Given the description of an element on the screen output the (x, y) to click on. 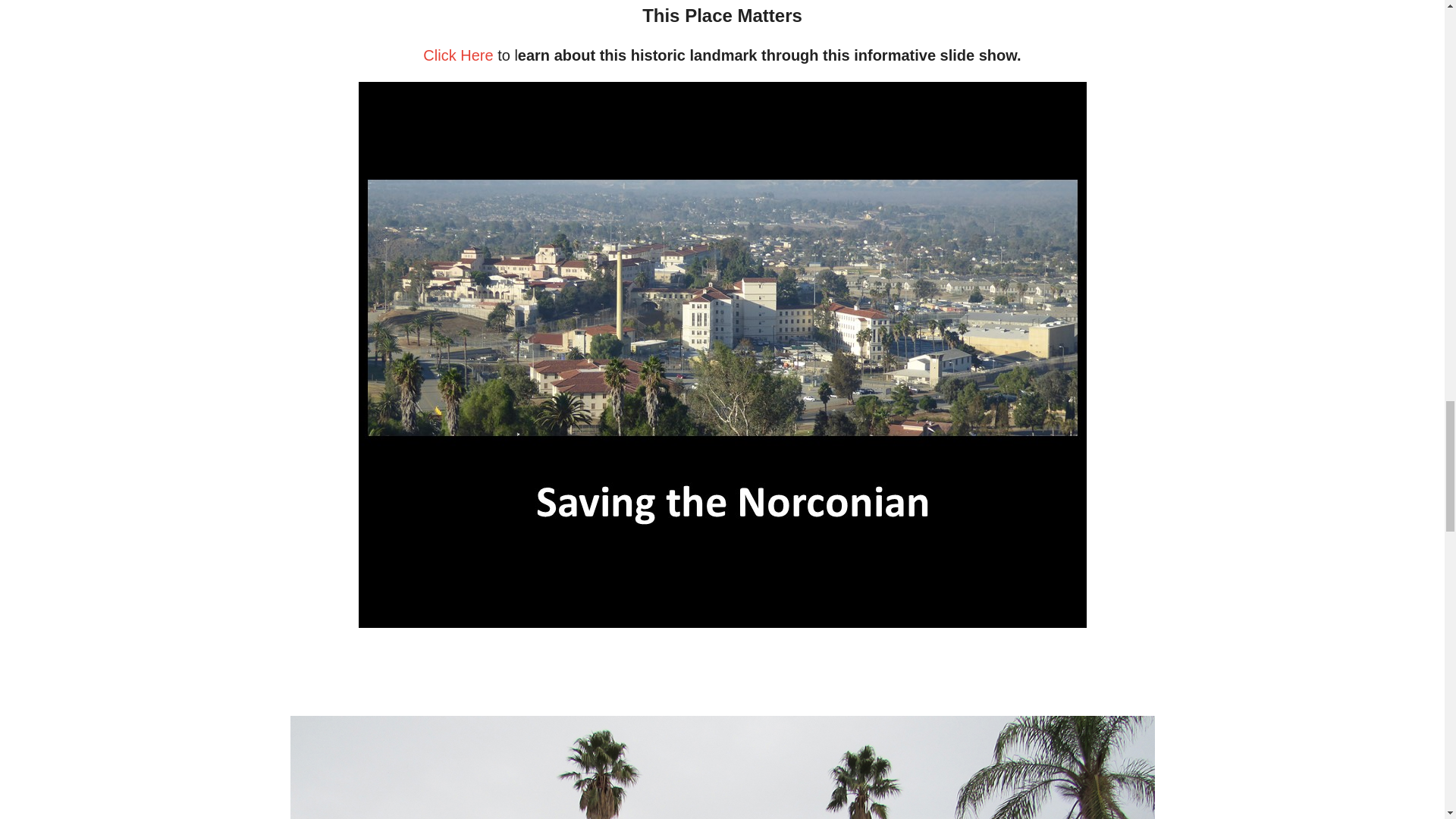
Click Here (458, 54)
